Given the description of an element on the screen output the (x, y) to click on. 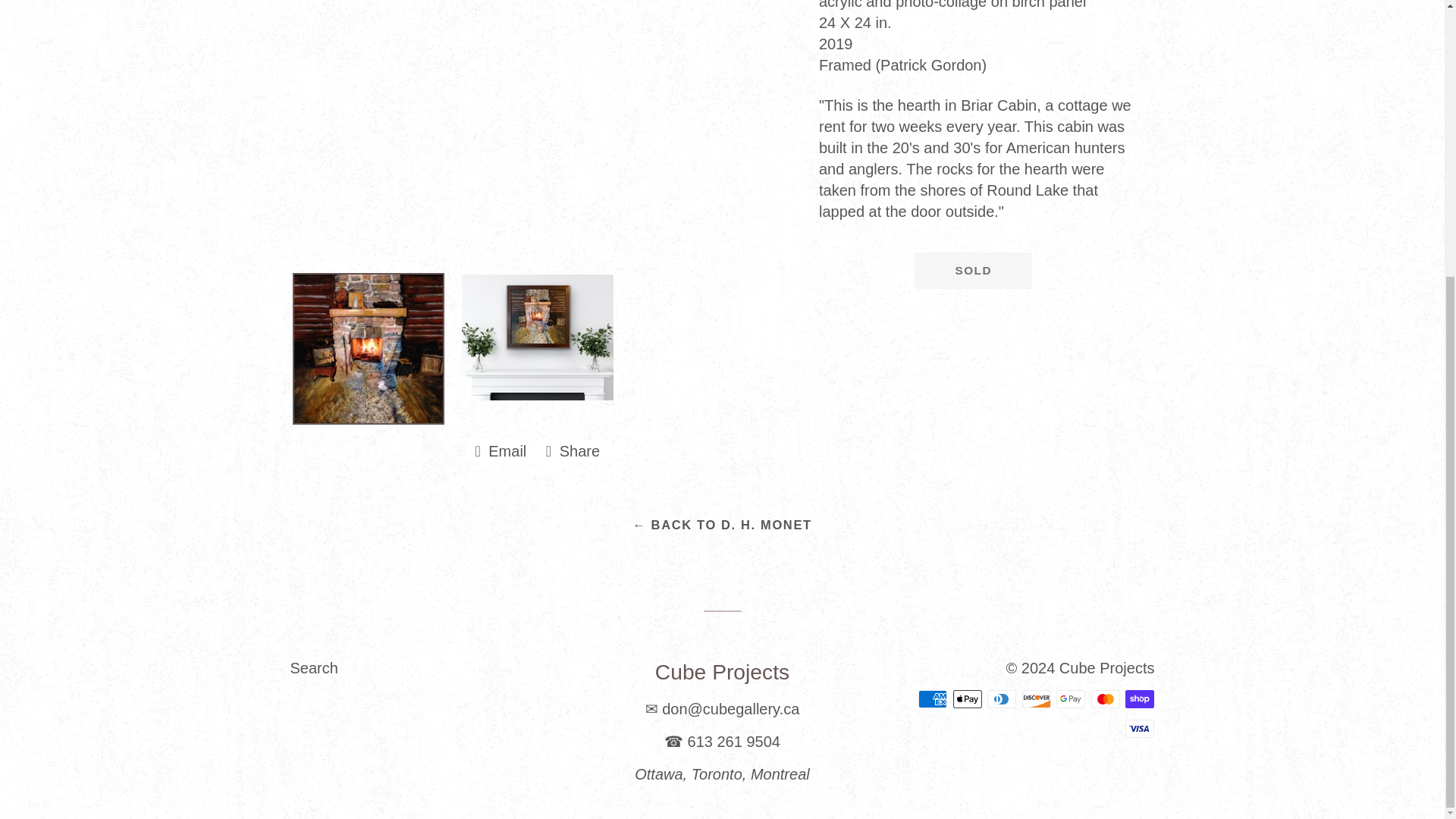
Shop Pay (1139, 699)
Visa (1139, 728)
Mastercard (500, 450)
Discover (1104, 699)
American Express (1036, 699)
Share via email (932, 699)
Apple Pay (500, 450)
Cube Projects (967, 699)
Search (1106, 668)
SOLD (572, 450)
Google Pay (313, 668)
Diners Club (973, 270)
Share on Facebook (1070, 699)
